Given the description of an element on the screen output the (x, y) to click on. 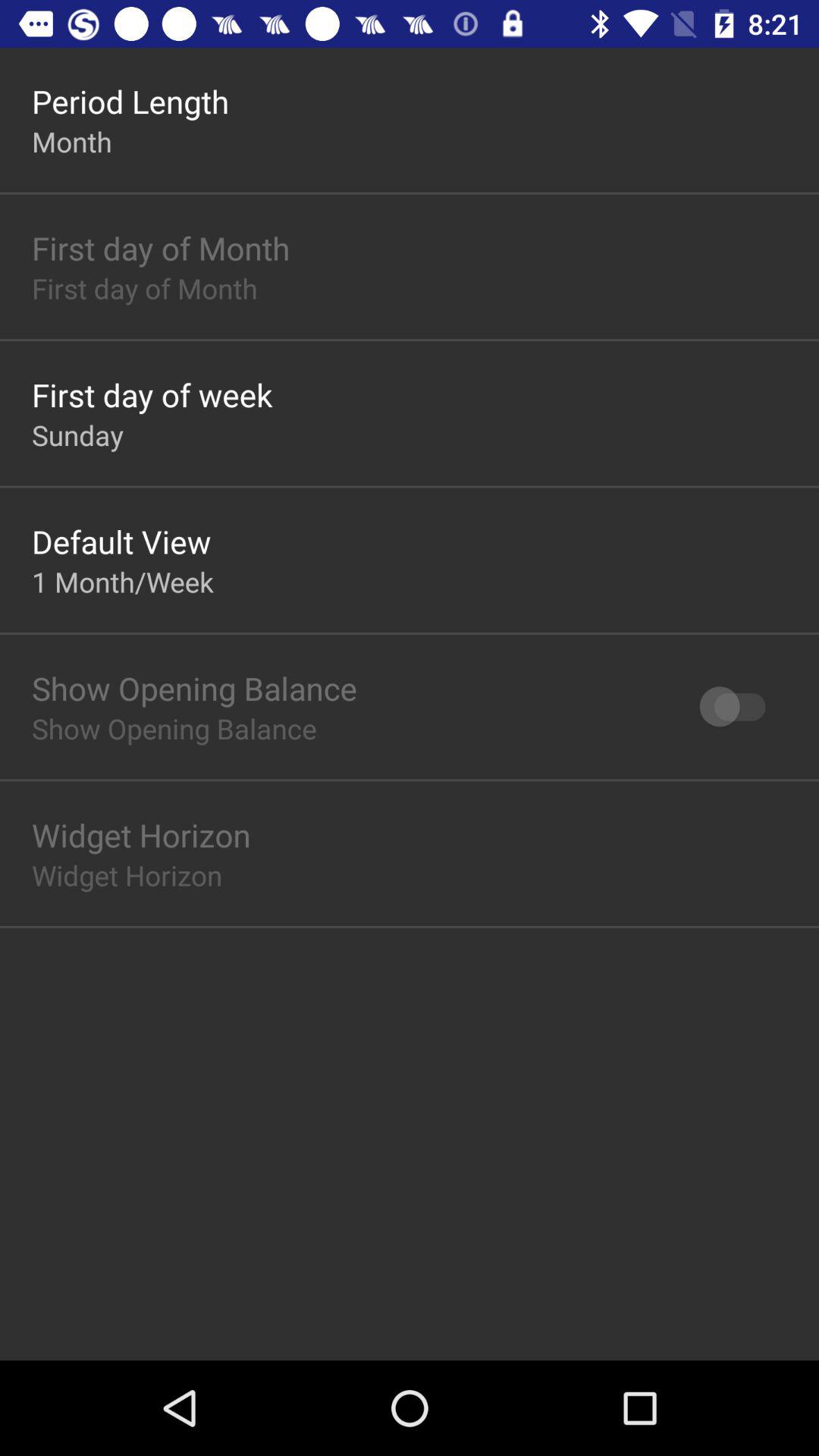
choose the default view app (121, 541)
